Given the description of an element on the screen output the (x, y) to click on. 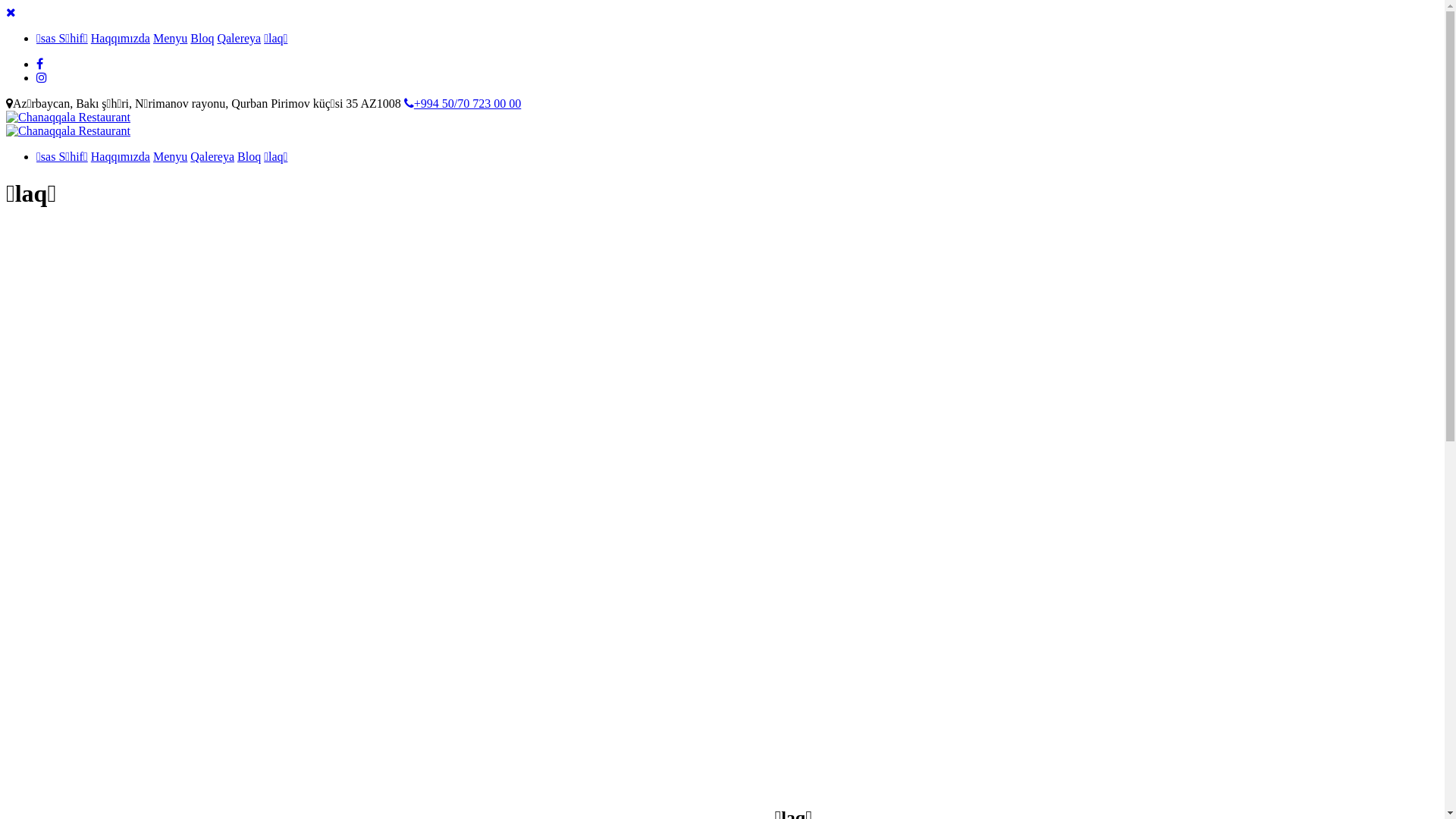
Bloq Element type: text (201, 37)
Instagram Element type: hover (41, 77)
Menyu Element type: text (170, 156)
Qalereya Element type: text (212, 156)
Menyu Element type: text (170, 37)
+994 50/70 723 00 00 Element type: text (462, 103)
Bloq Element type: text (248, 156)
Qalereya Element type: text (238, 37)
